Given the description of an element on the screen output the (x, y) to click on. 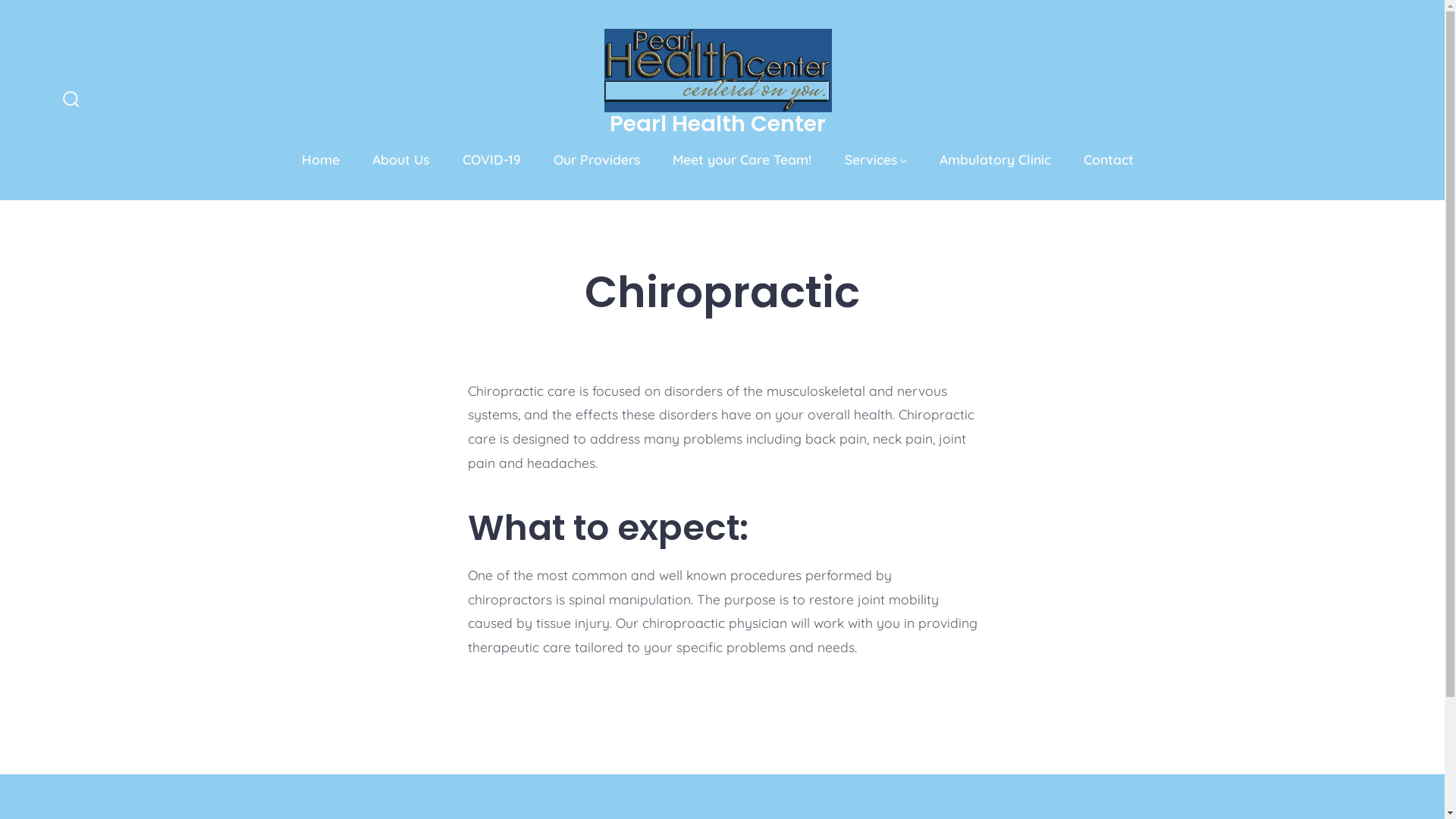
COVID-19 Element type: text (491, 159)
Search Toggle Element type: text (70, 99)
Home Element type: text (320, 159)
Ambulatory Clinic Element type: text (995, 159)
Pearl Health Center Element type: text (717, 125)
Services Element type: text (875, 159)
Contact Element type: text (1108, 159)
Our Providers Element type: text (596, 159)
About Us Element type: text (400, 159)
Meet your Care Team! Element type: text (741, 159)
